Given the description of an element on the screen output the (x, y) to click on. 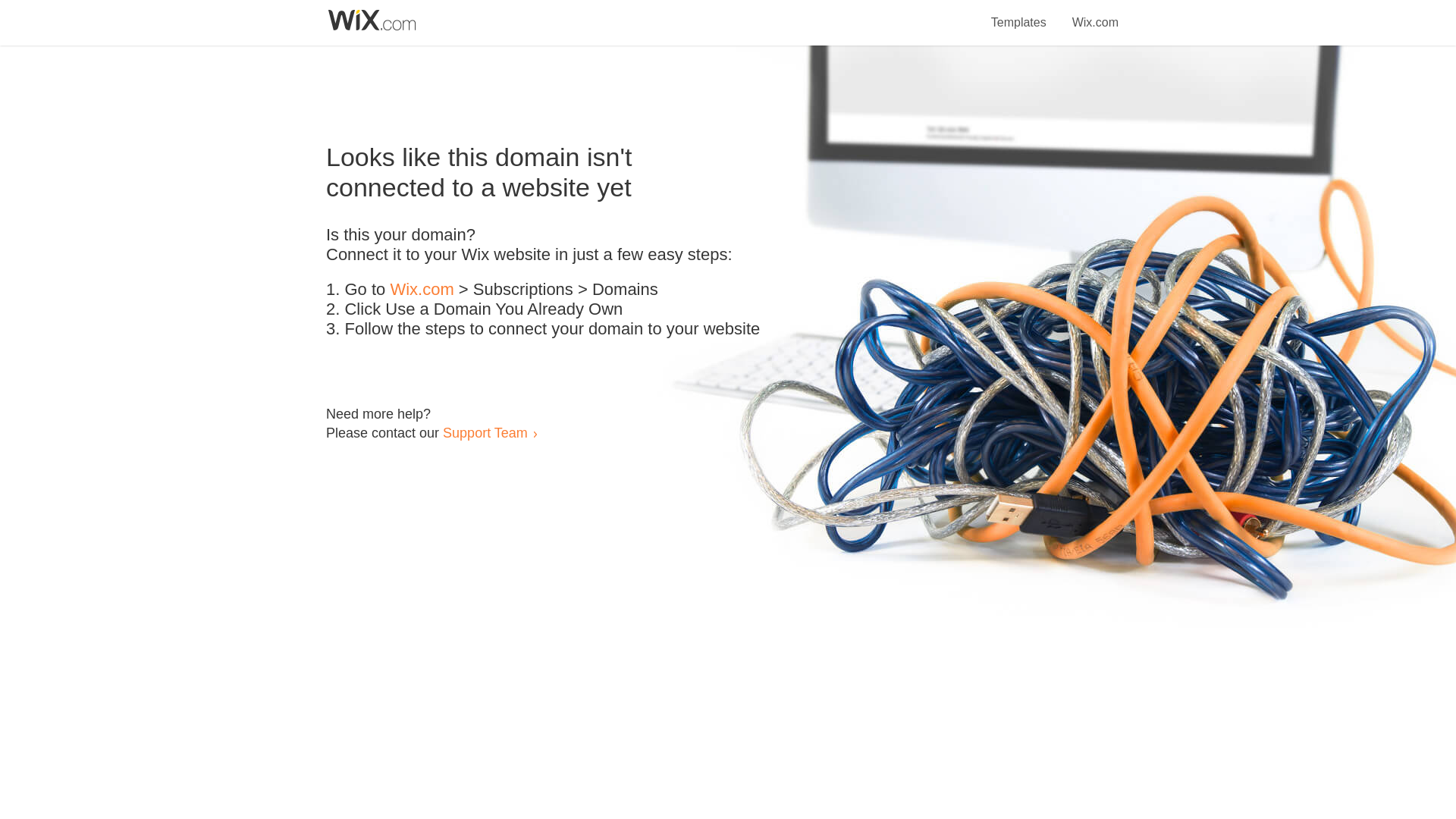
Wix.com (421, 289)
Support Team (484, 432)
Wix.com (1095, 14)
Templates (1018, 14)
